Given the description of an element on the screen output the (x, y) to click on. 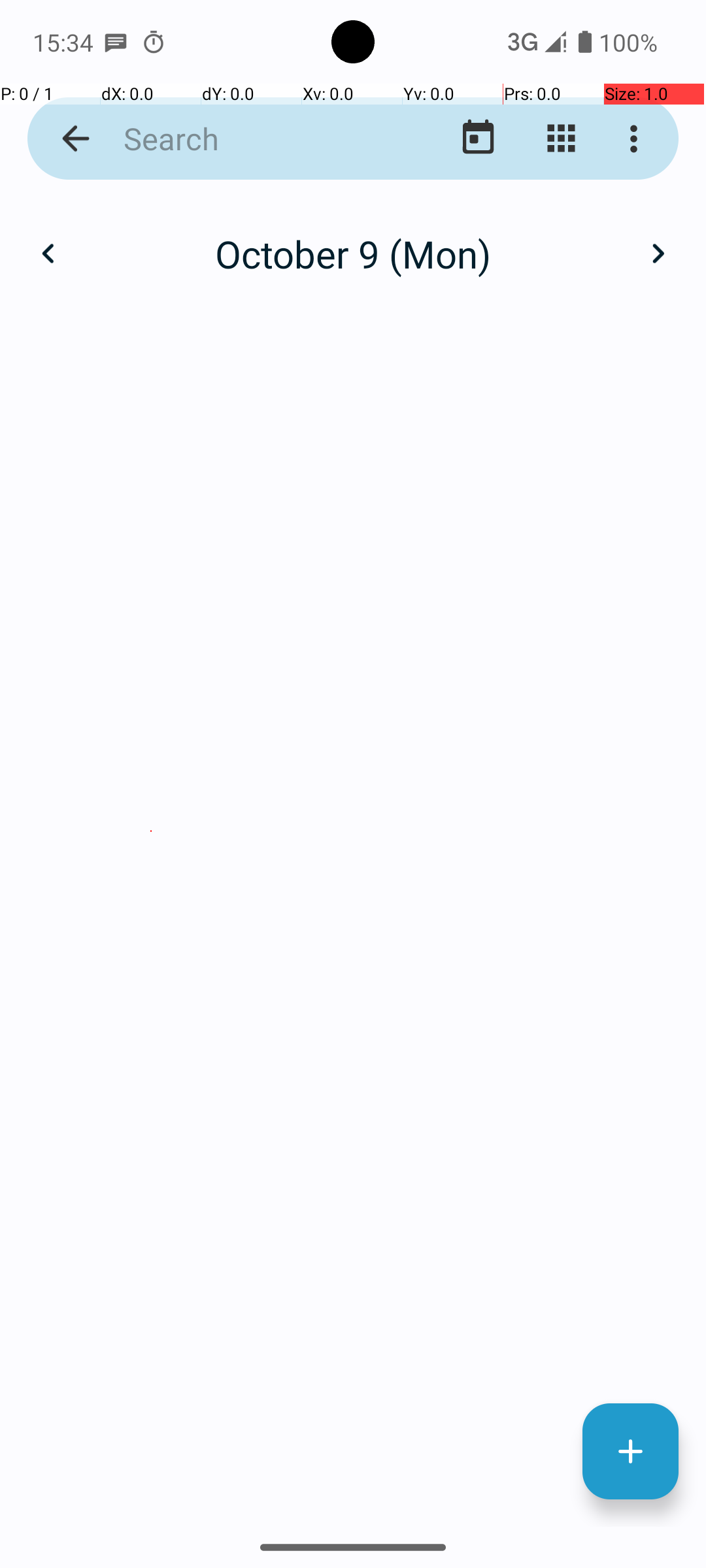
October 9 (Mon) Element type: android.widget.TextView (352, 253)
